Given the description of an element on the screen output the (x, y) to click on. 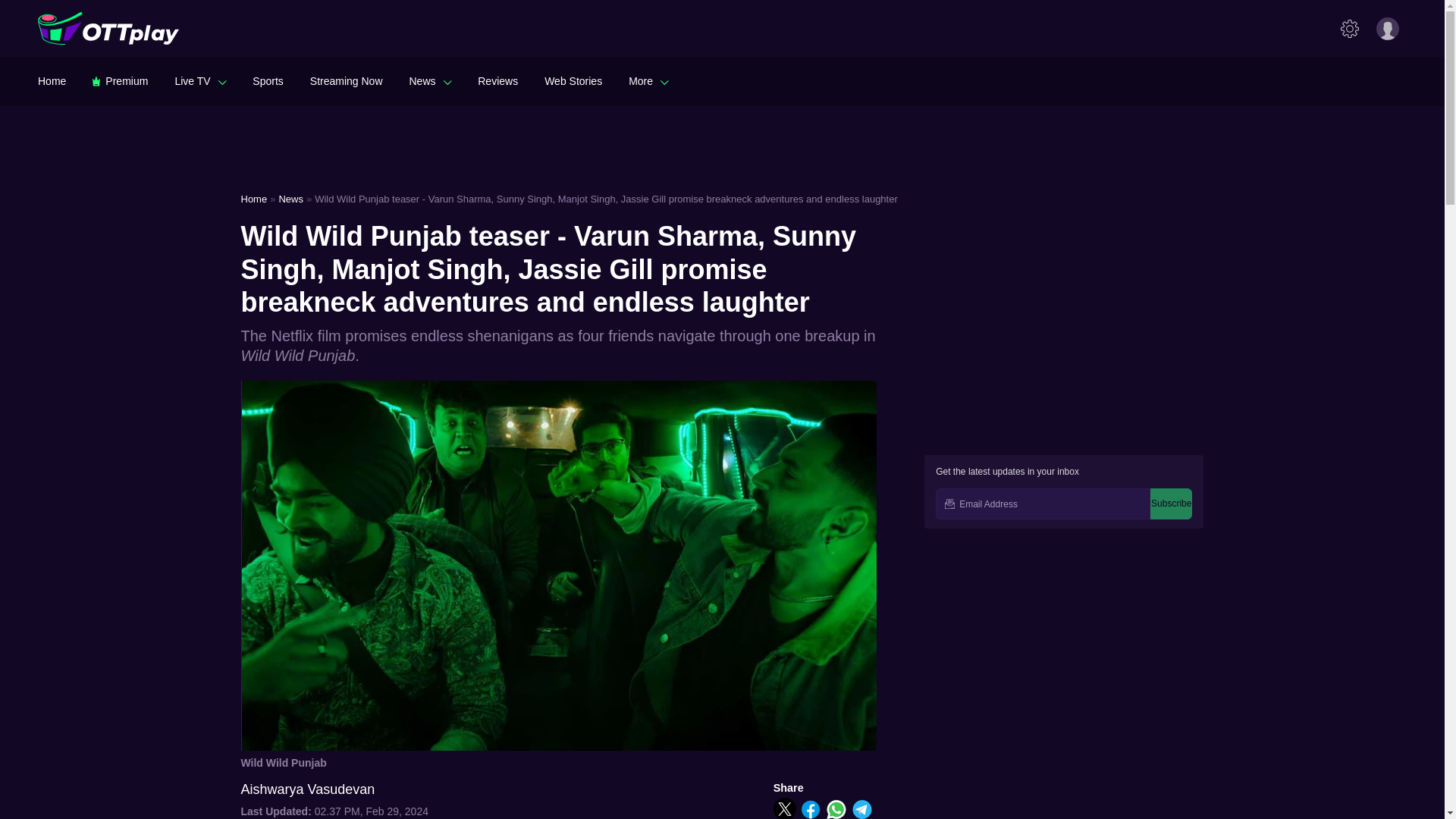
Streaming Now (346, 80)
News (430, 80)
Premium (120, 80)
Web Stories (573, 80)
Live TV (199, 80)
